Given the description of an element on the screen output the (x, y) to click on. 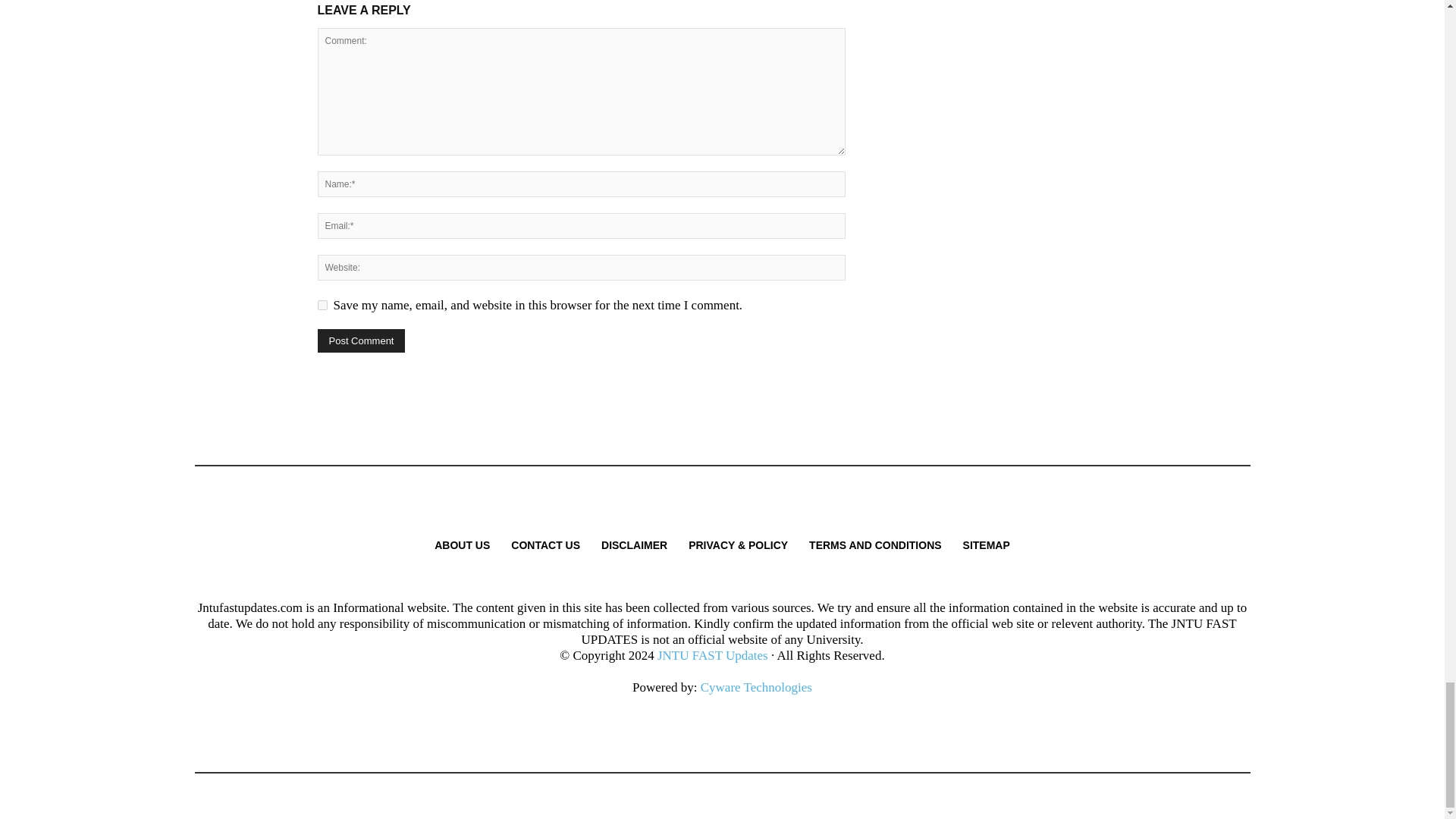
Post Comment (360, 340)
yes (321, 305)
